Given the description of an element on the screen output the (x, y) to click on. 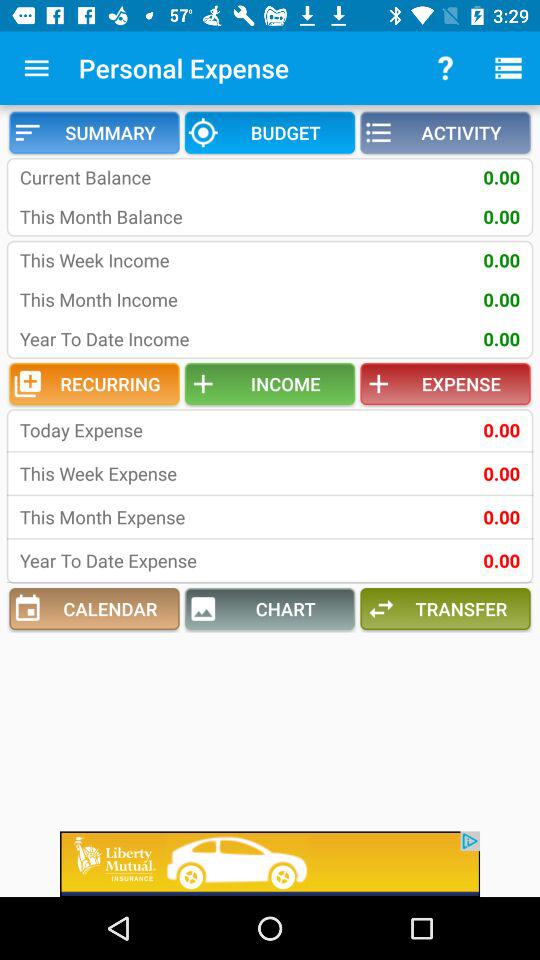
turn on the icon next to the chart (94, 609)
